Given the description of an element on the screen output the (x, y) to click on. 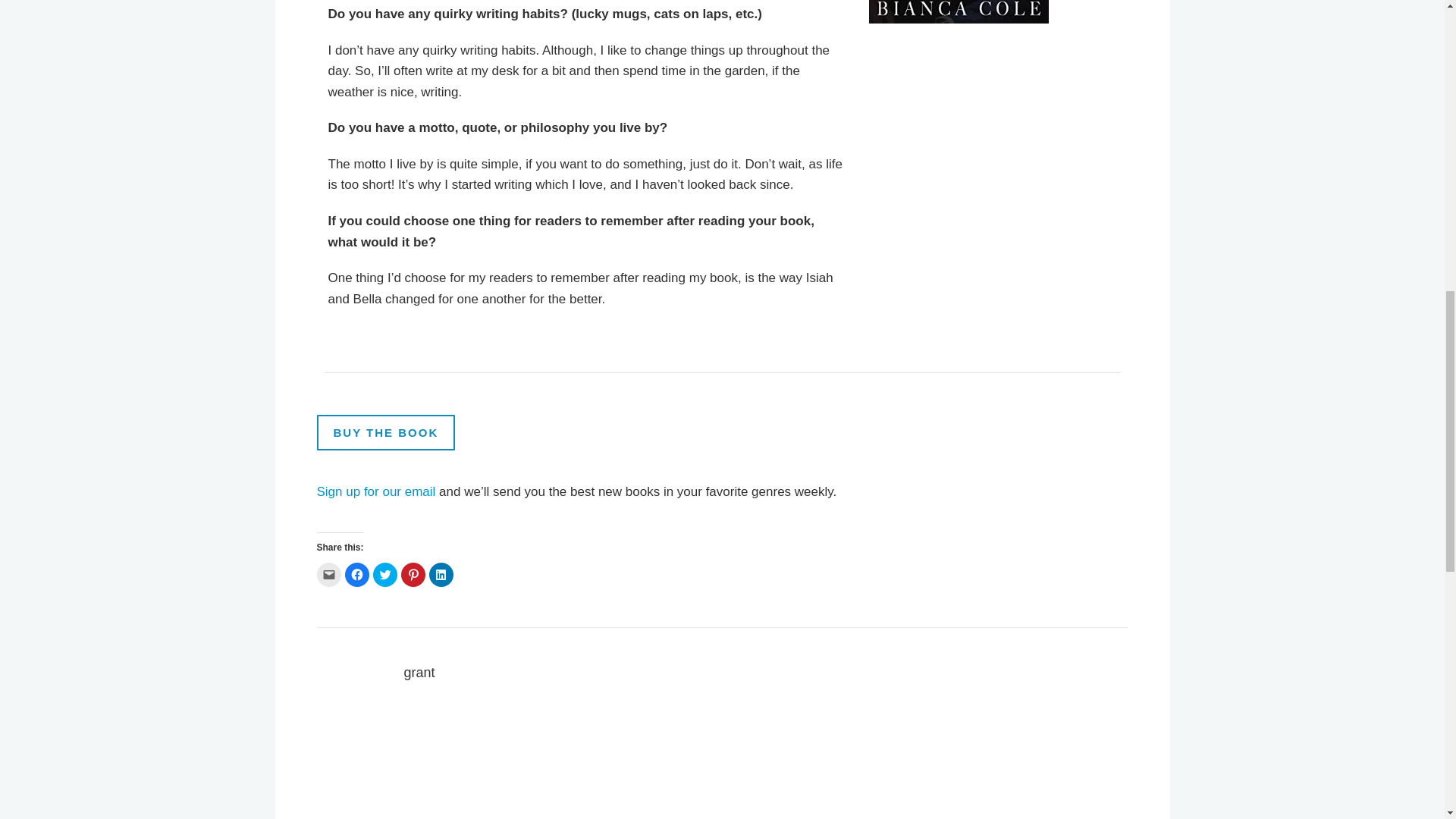
Click to share on Pinterest (412, 574)
Click to share on Twitter (384, 574)
Click to share on Facebook (355, 574)
Click to email this to a friend (328, 574)
Click to share on LinkedIn (440, 574)
